Given the description of an element on the screen output the (x, y) to click on. 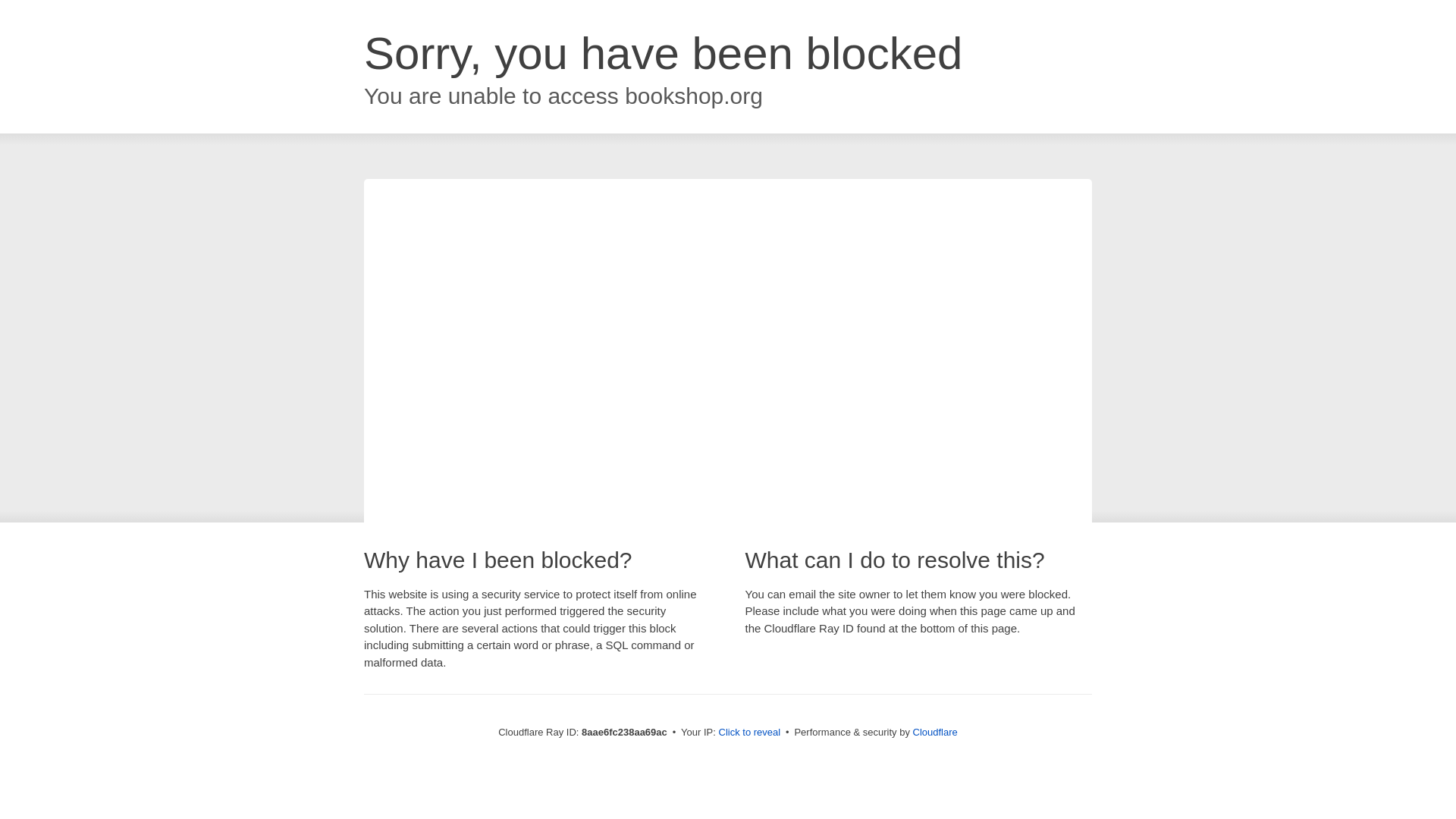
Click to reveal (749, 732)
Cloudflare (935, 731)
